Given the description of an element on the screen output the (x, y) to click on. 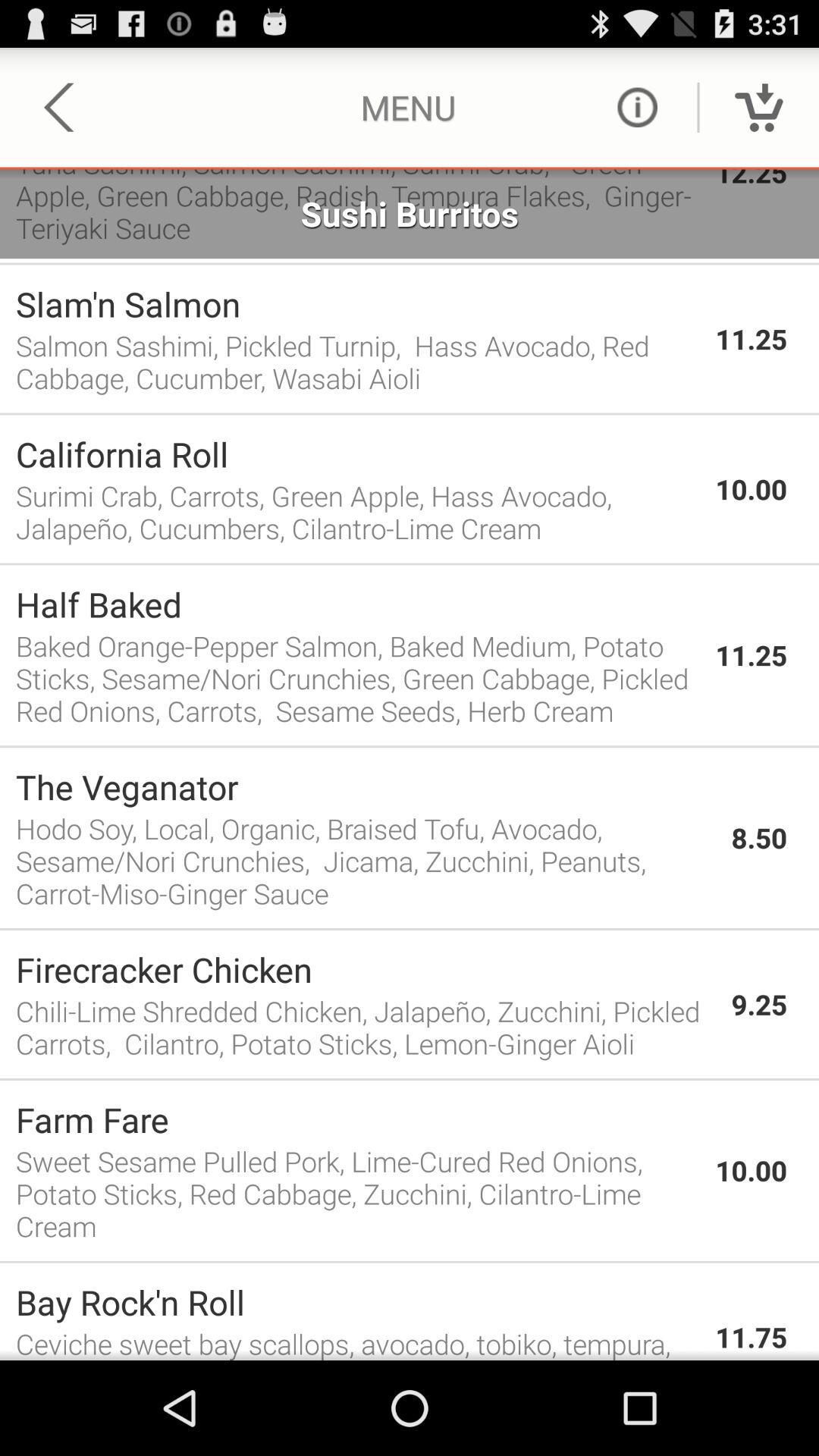
click the cart button on the top right corner of the web page (758, 107)
